Given the description of an element on the screen output the (x, y) to click on. 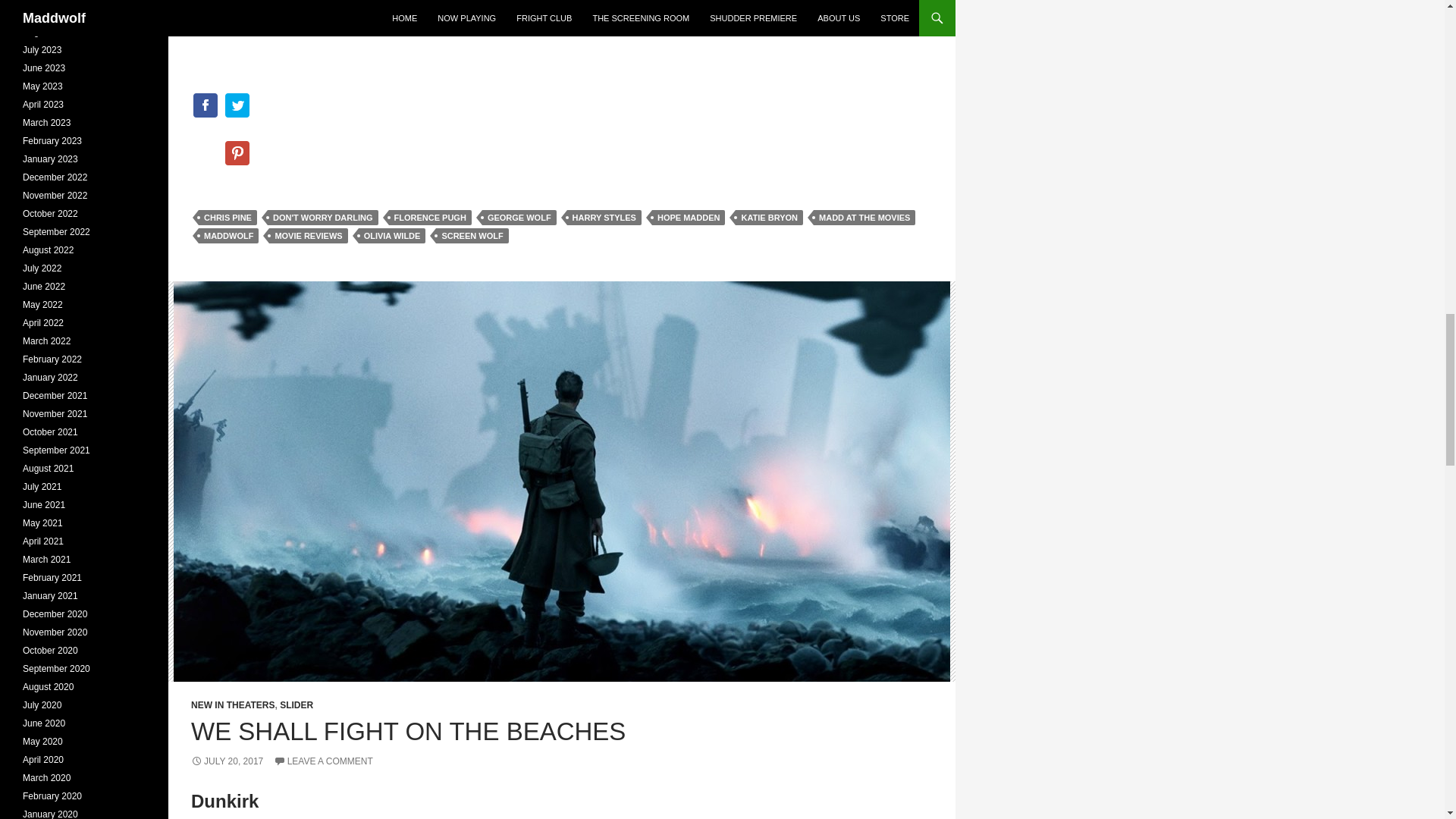
HOPE MADDEN (688, 217)
SLIDER (296, 705)
FLORENCE PUGH (429, 217)
MADD AT THE MOVIES (864, 217)
LEAVE A COMMENT (322, 760)
GEORGE WOLF (518, 217)
KATIE BRYON (769, 217)
JULY 20, 2017 (226, 760)
DON'T WORRY DARLING (322, 217)
WE SHALL FIGHT ON THE BEACHES (408, 731)
